Given the description of an element on the screen output the (x, y) to click on. 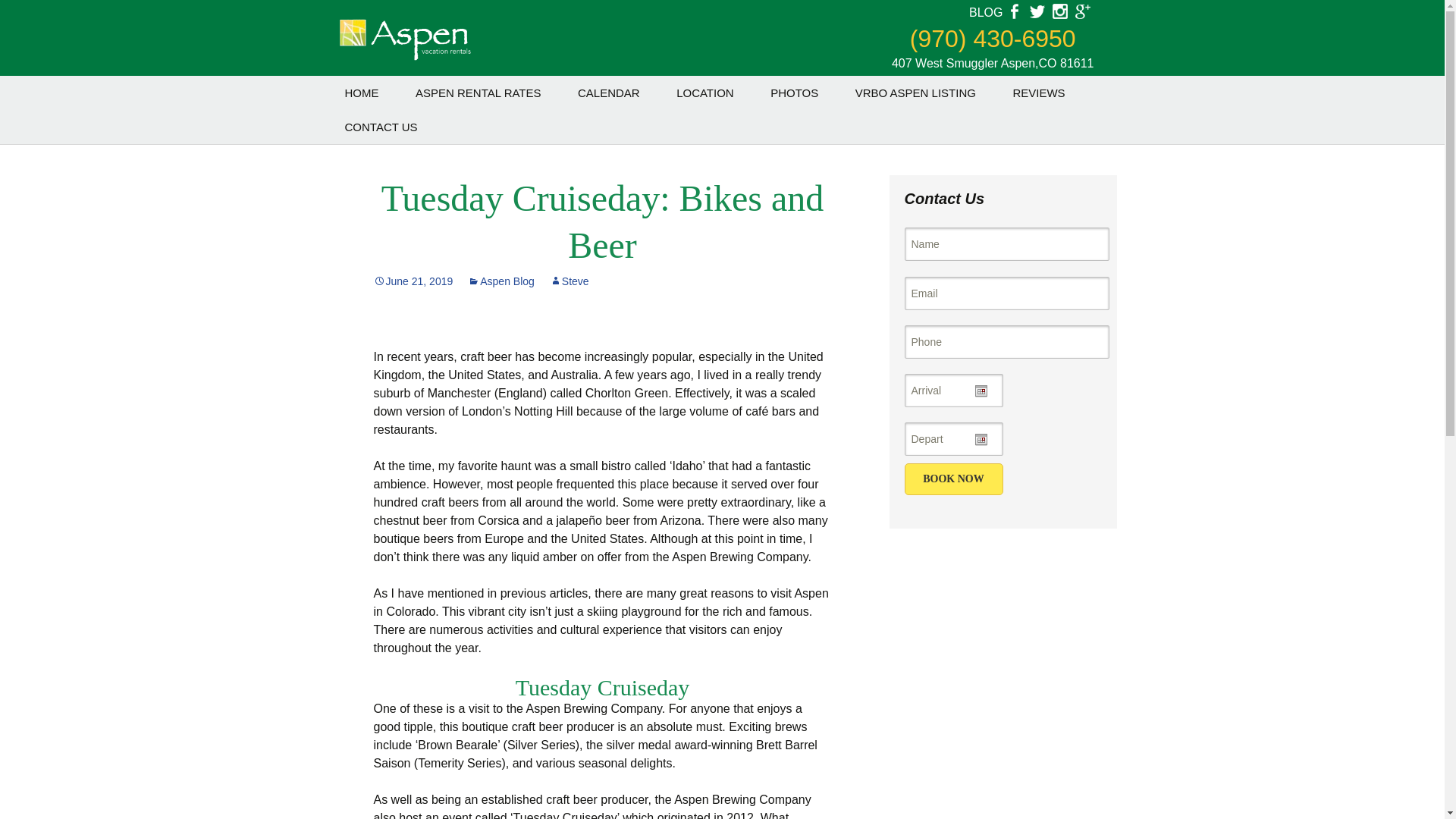
LOCATION (705, 92)
HOME (360, 92)
View all posts by Steve (569, 281)
BOOK NOW (953, 479)
BLOG (986, 11)
REVIEWS (1038, 92)
CALENDAR (608, 92)
VRBO ASPEN LISTING (915, 92)
BOOK NOW (953, 479)
ASPEN RENTAL RATES (477, 92)
... (980, 390)
CONTACT US (380, 126)
Steve (569, 281)
... (980, 439)
